Given the description of an element on the screen output the (x, y) to click on. 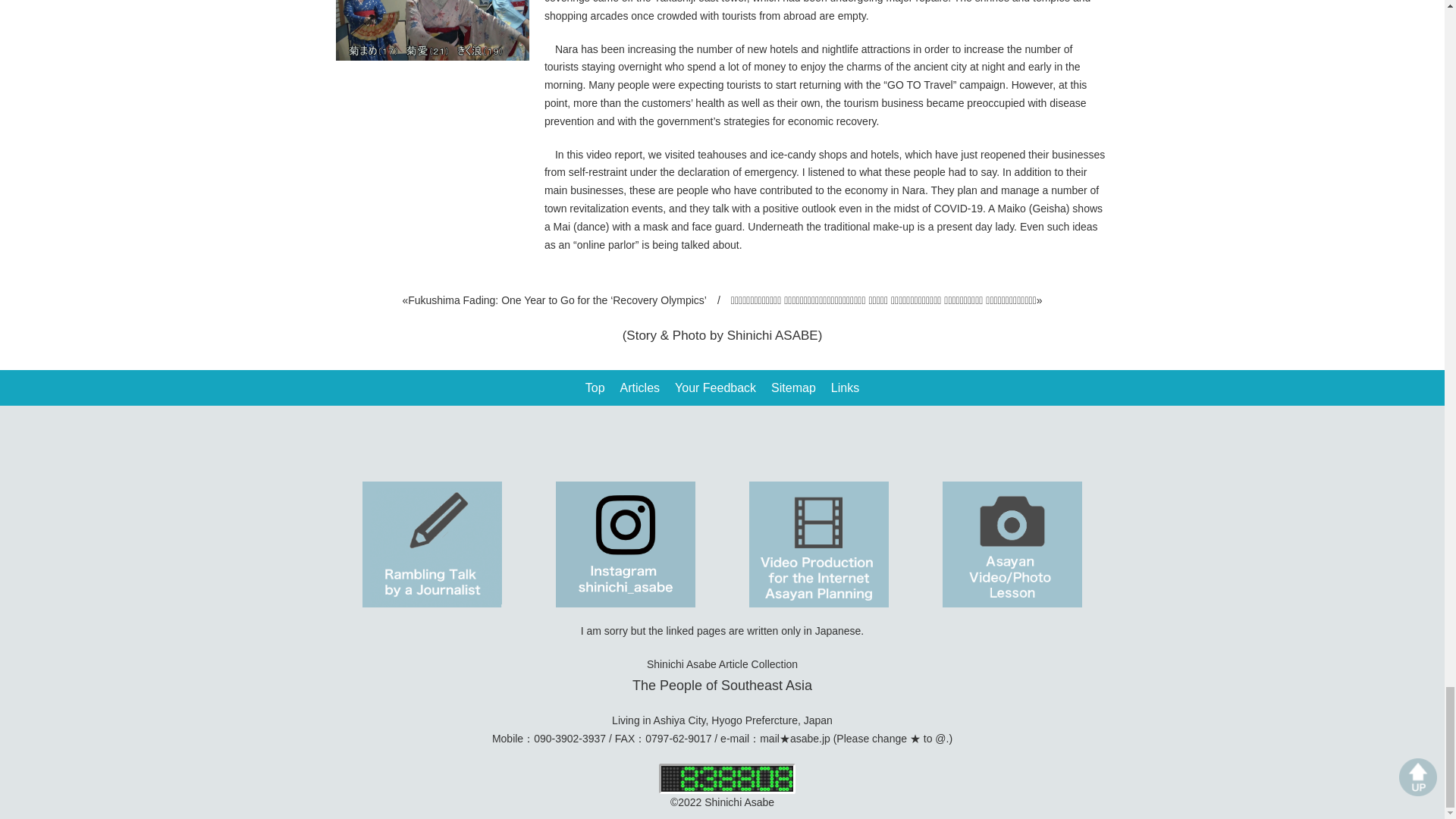
Your Feedback (715, 387)
Articles (639, 387)
Top (595, 387)
